Given the description of an element on the screen output the (x, y) to click on. 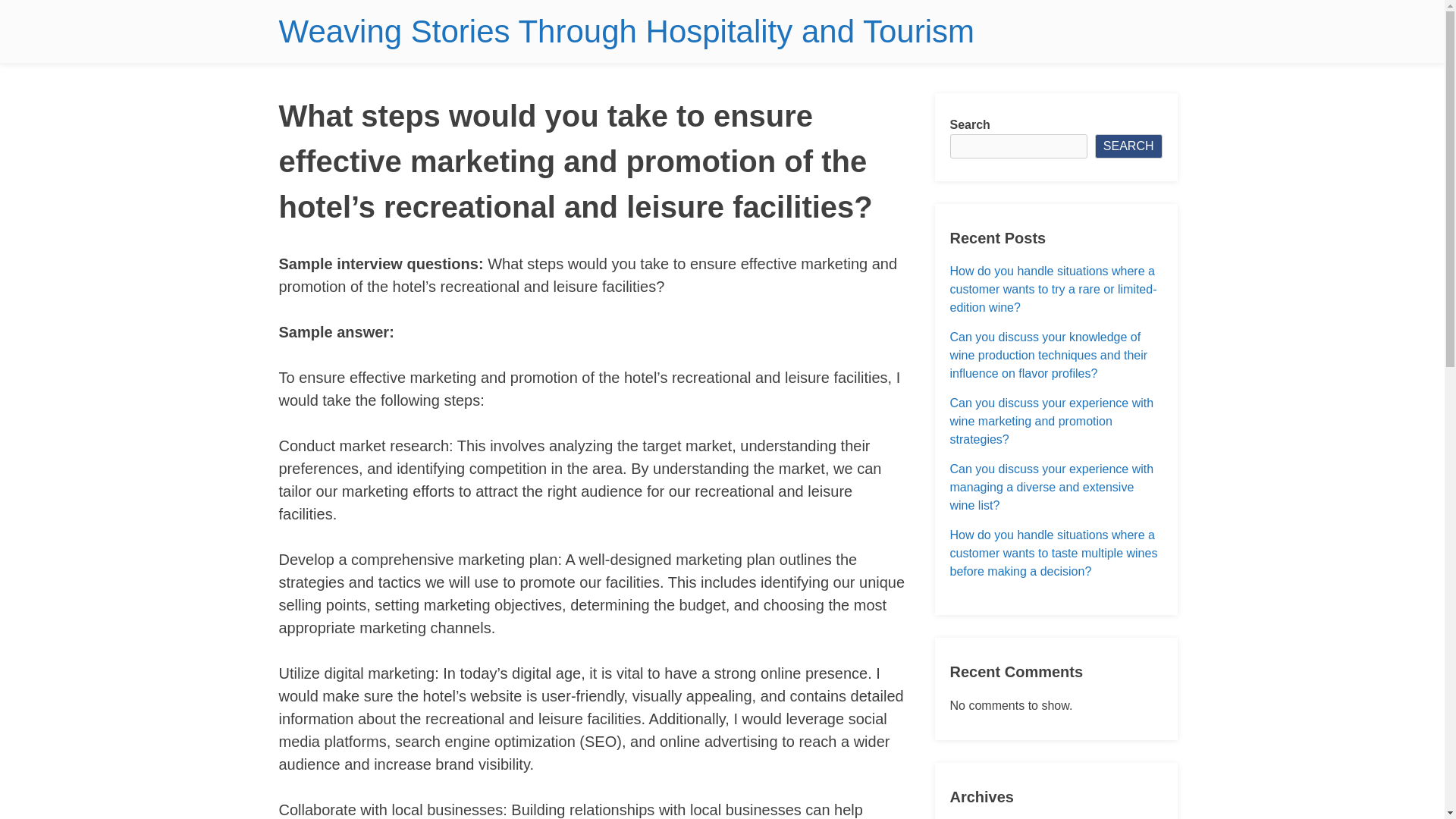
Weaving Stories Through Hospitality and Tourism (626, 31)
SEARCH (1127, 146)
